Given the description of an element on the screen output the (x, y) to click on. 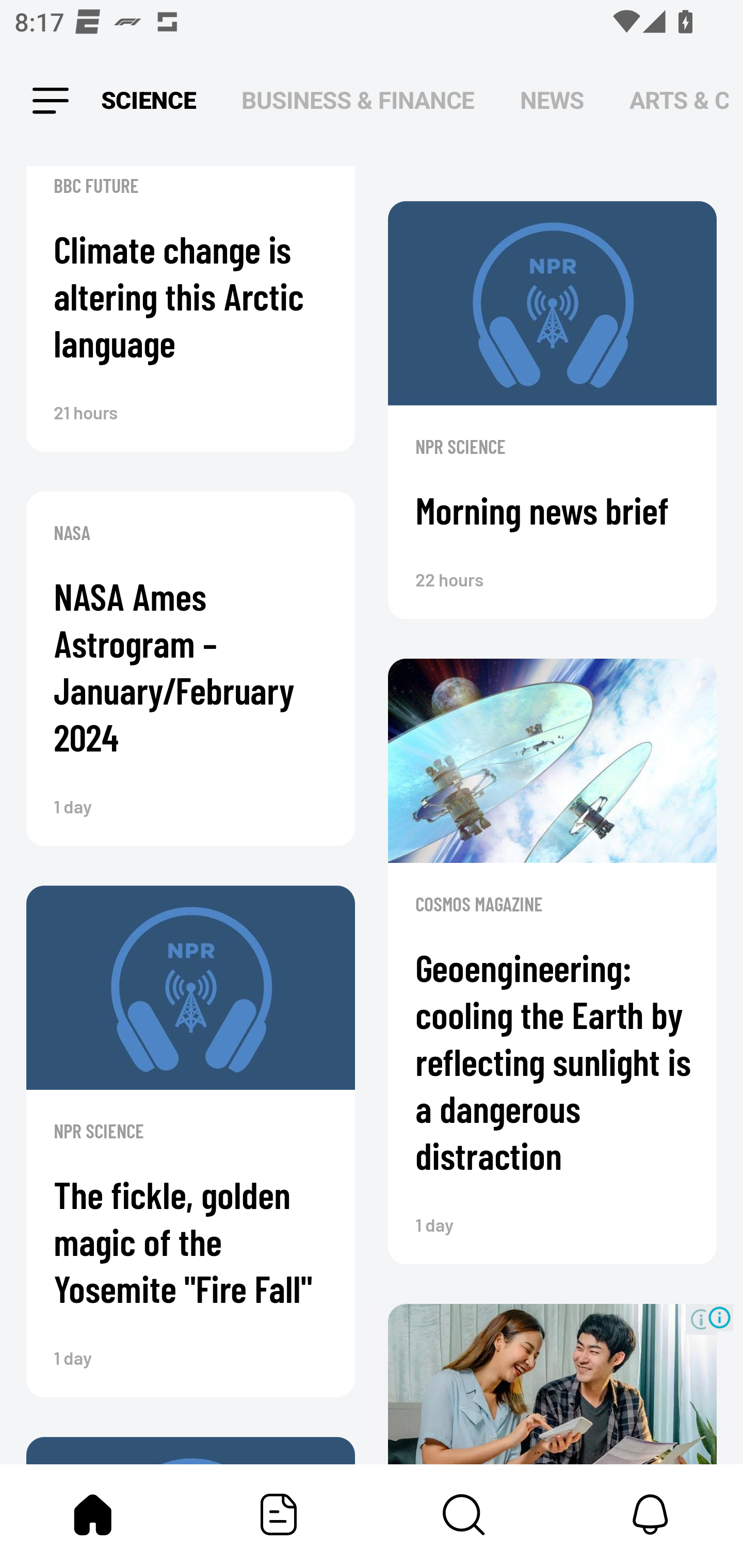
Leading Icon (50, 101)
BUSINESS & FINANCE (357, 100)
NEWS (551, 100)
ARTS & CULTURE (678, 100)
Ad Choices Icon (719, 1317)
Featured (278, 1514)
Content Store (464, 1514)
Notifications (650, 1514)
